Given the description of an element on the screen output the (x, y) to click on. 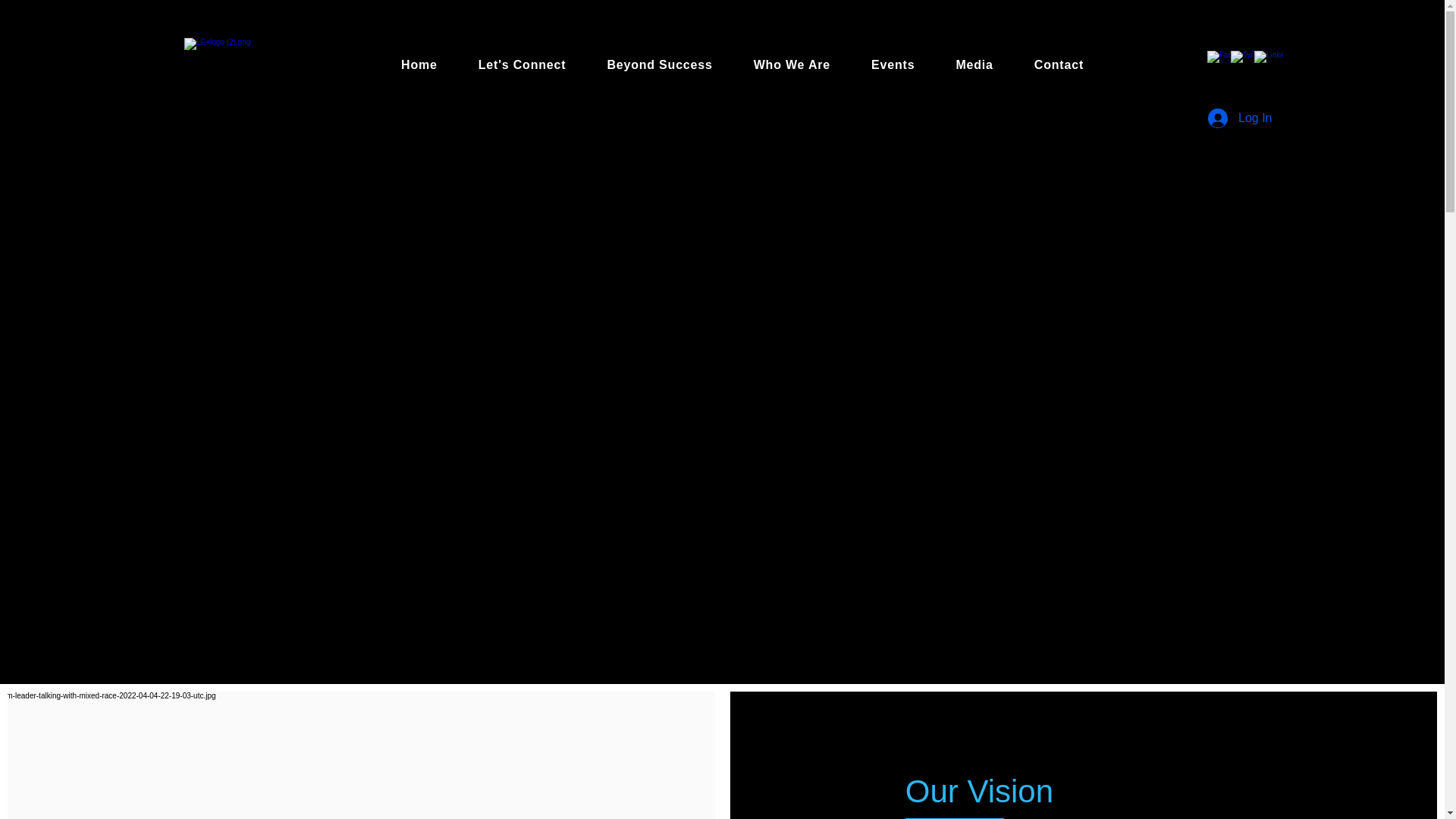
Log In (1237, 118)
Let's Connect (522, 64)
Contact (1058, 64)
Home (419, 64)
Beyond Success (659, 64)
